Given the description of an element on the screen output the (x, y) to click on. 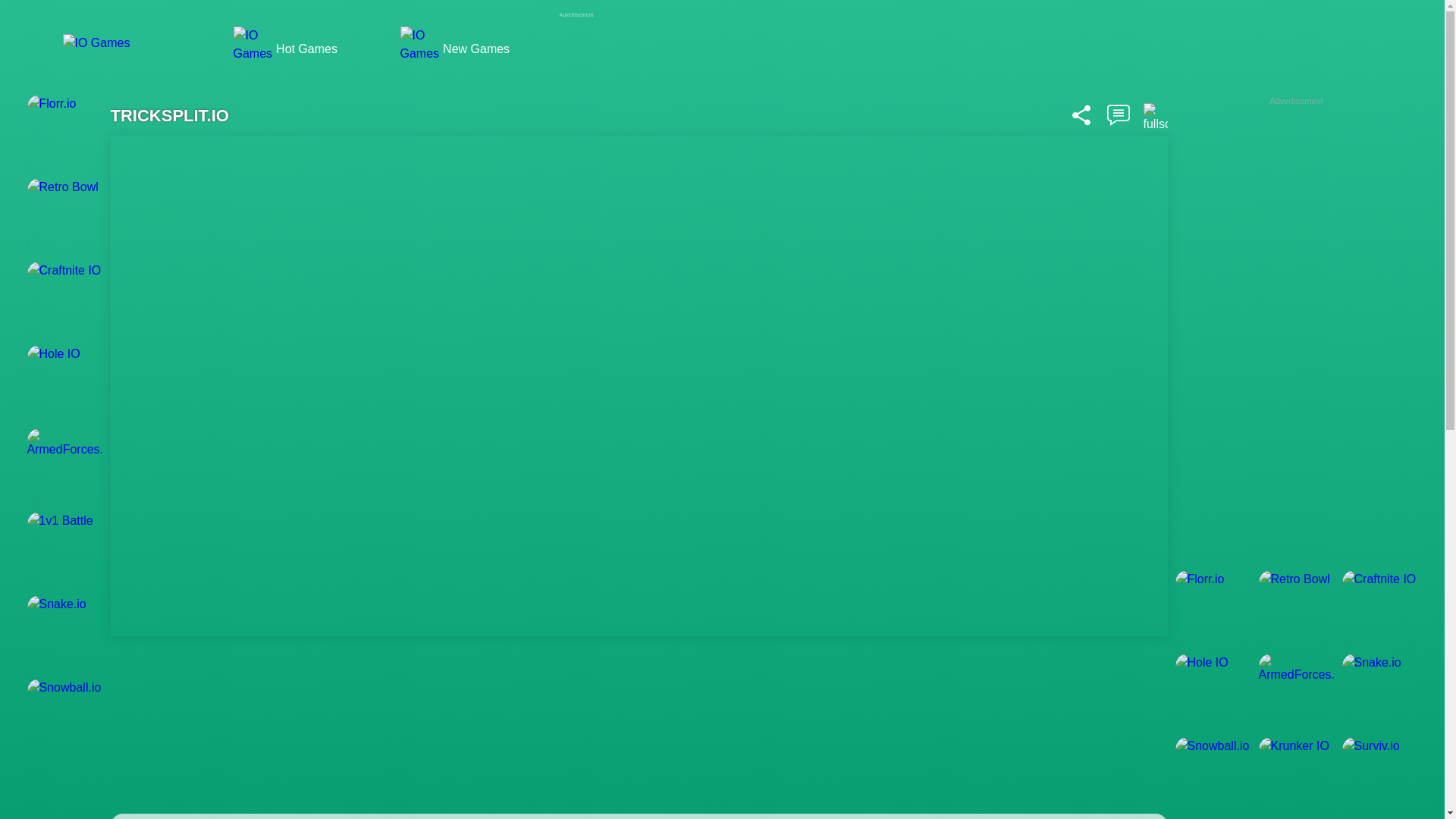
fullscreen (1168, 118)
Snowball.io (1212, 775)
Snake.io (65, 632)
Retro Bowl (65, 215)
ArmedForces.io (1301, 691)
IO Games (115, 53)
Hot Games (305, 48)
Hole IO (1212, 691)
Florr.io (1212, 608)
Snowball.io (65, 716)
